Given the description of an element on the screen output the (x, y) to click on. 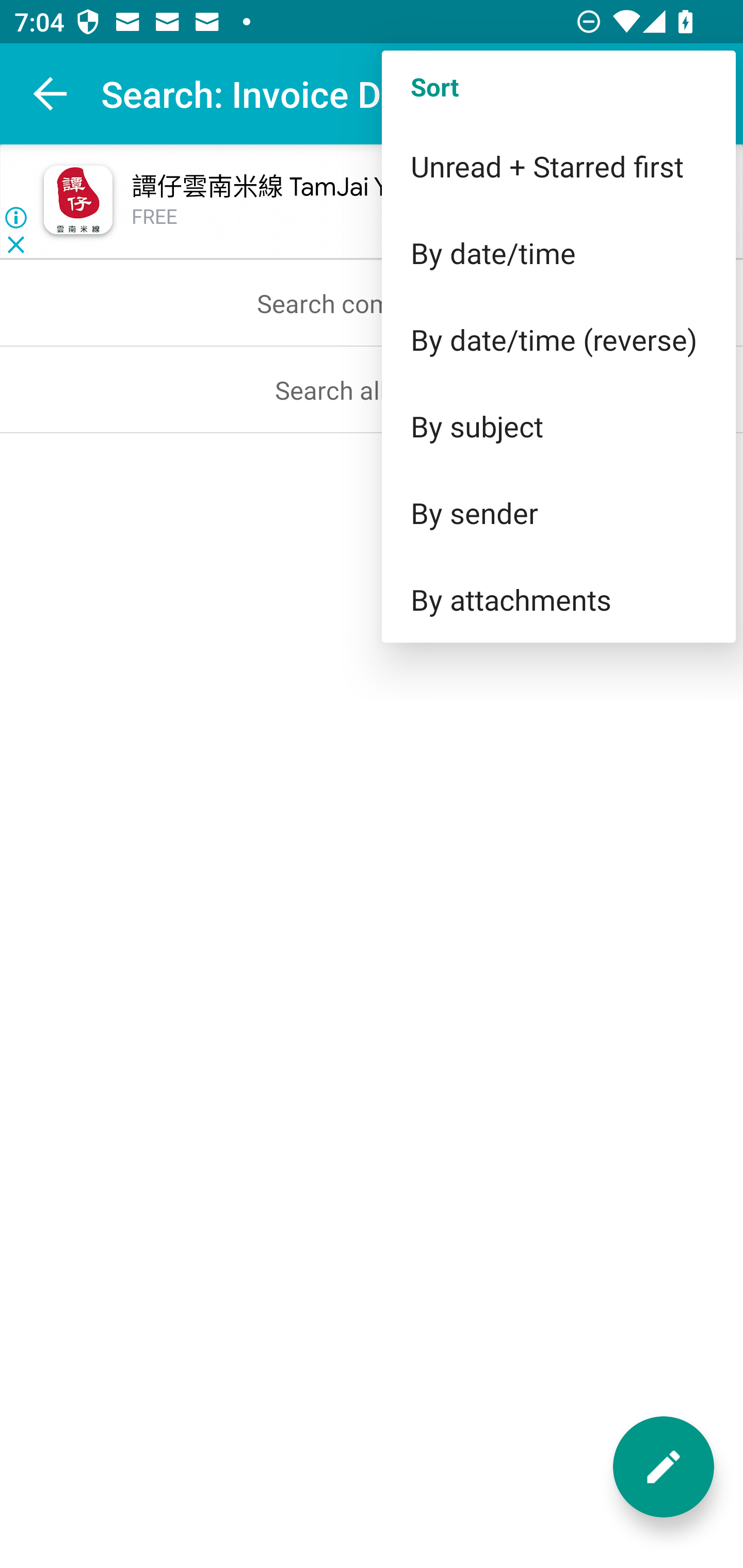
Unread + Starred first (558, 166)
By date/time (558, 253)
By date/time (reverse) (558, 339)
By subject (558, 425)
By sender (558, 512)
By attachments (558, 599)
